Given the description of an element on the screen output the (x, y) to click on. 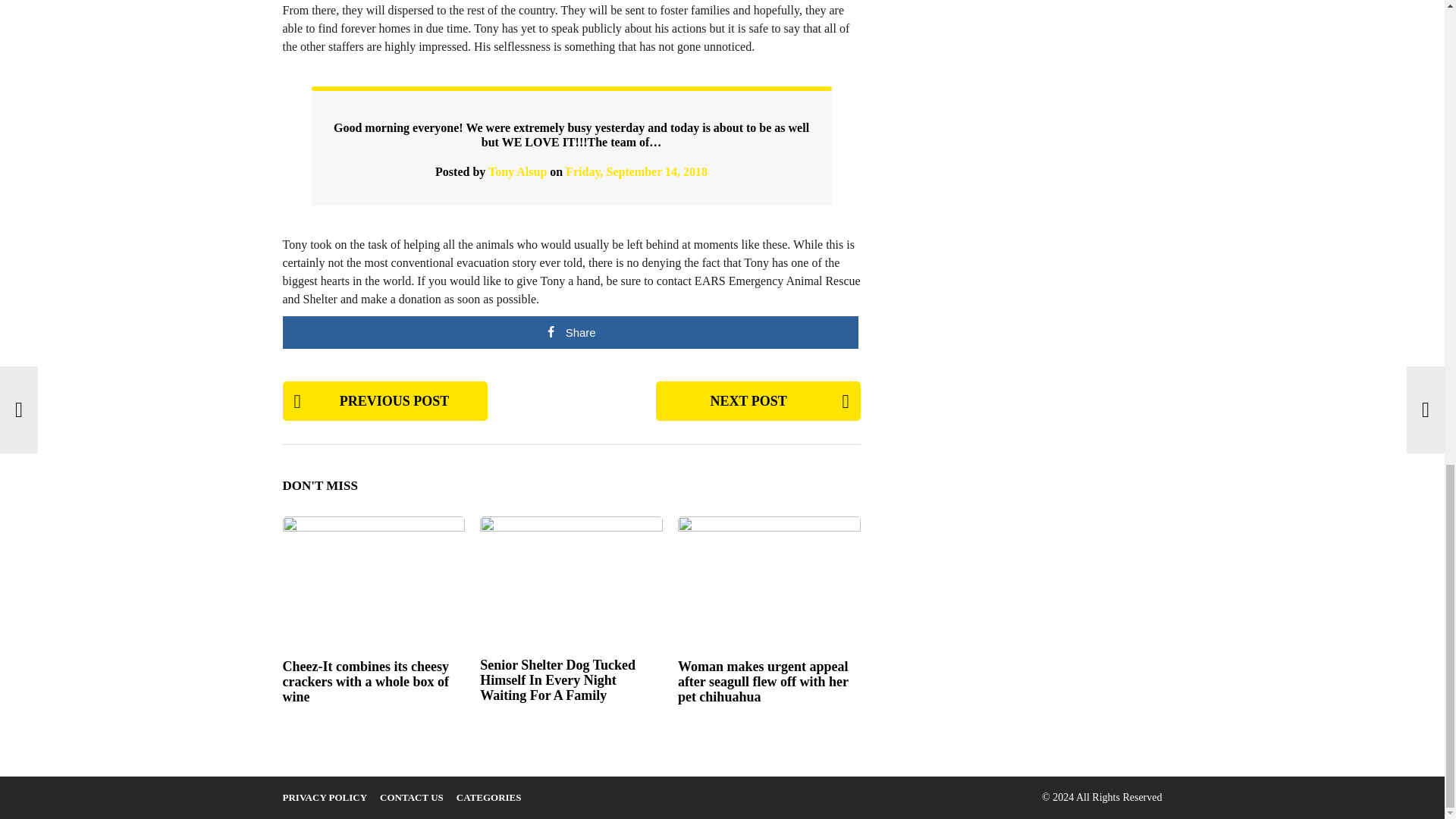
Tony Alsup (517, 171)
PREVIOUS POST (384, 400)
NEXT POST (758, 400)
Friday, September 14, 2018 (636, 171)
Share (569, 332)
